Given the description of an element on the screen output the (x, y) to click on. 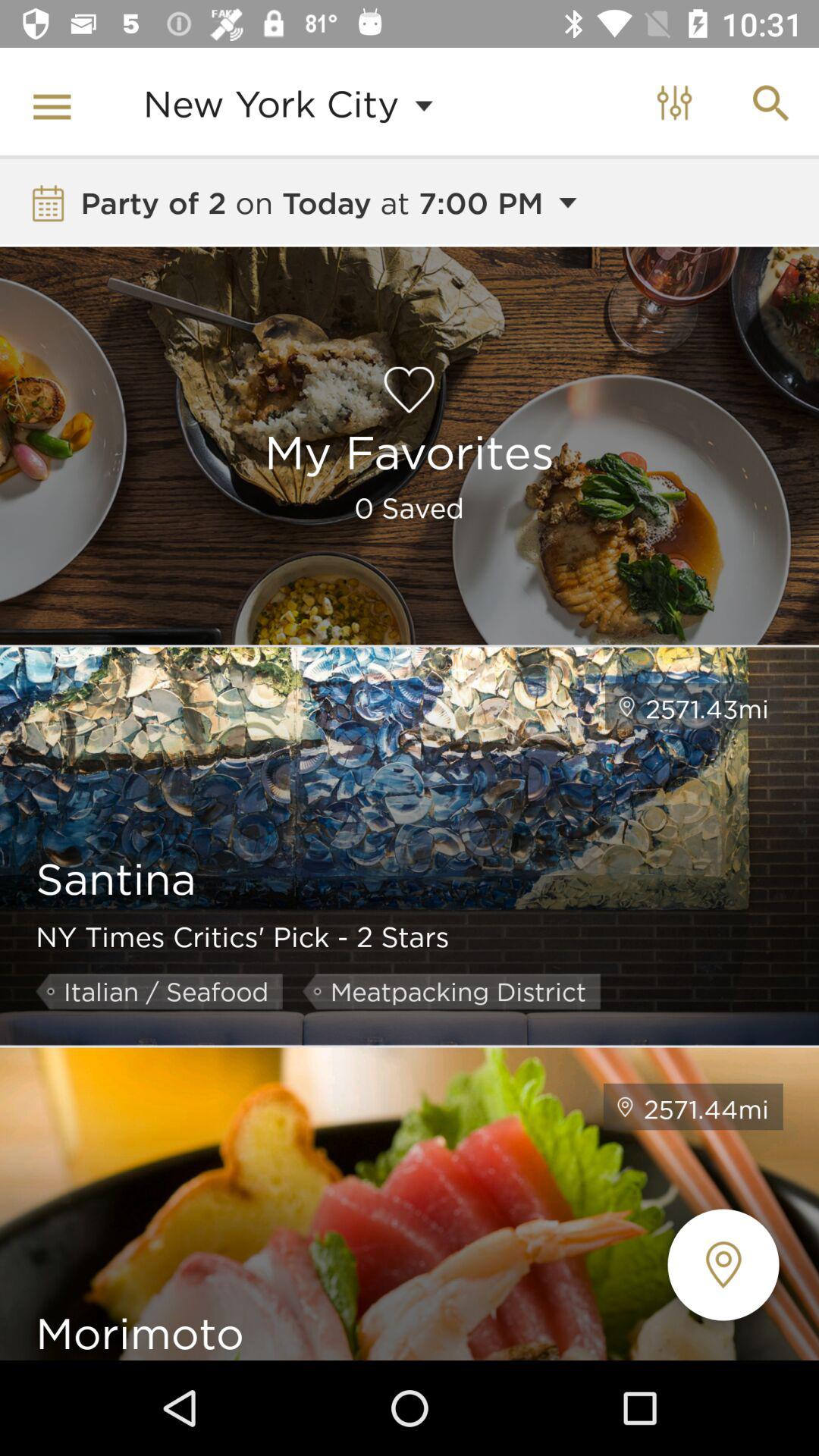
turn on the item below 2571.44mi (723, 1264)
